Given the description of an element on the screen output the (x, y) to click on. 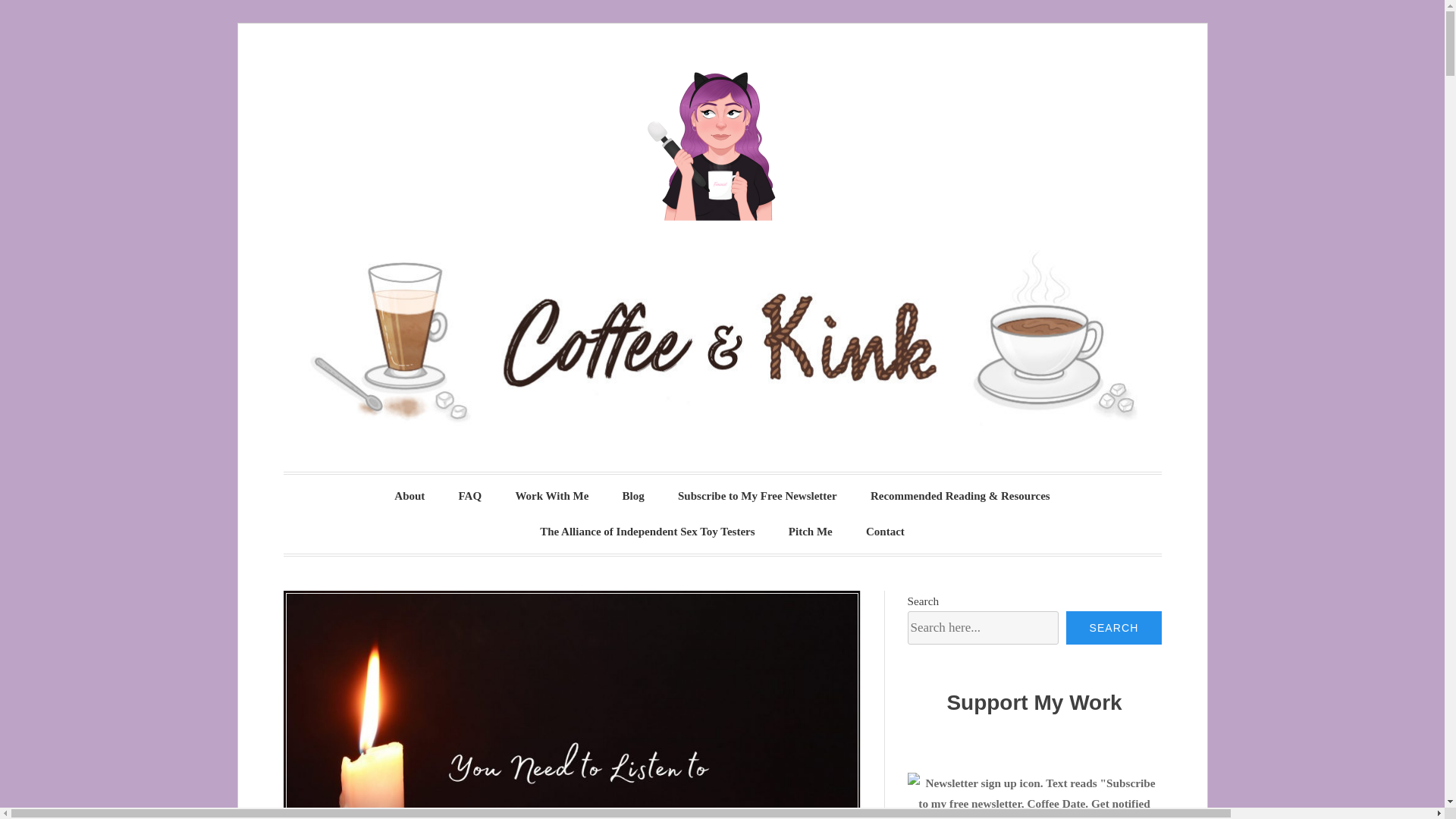
Contact (885, 531)
Blog (633, 496)
Subscribe to My Free Newsletter (756, 496)
The Alliance of Independent Sex Toy Testers (647, 531)
Work With Me (551, 496)
Pitch Me (810, 531)
FAQ (470, 496)
SEARCH (1112, 627)
About (408, 496)
